Given the description of an element on the screen output the (x, y) to click on. 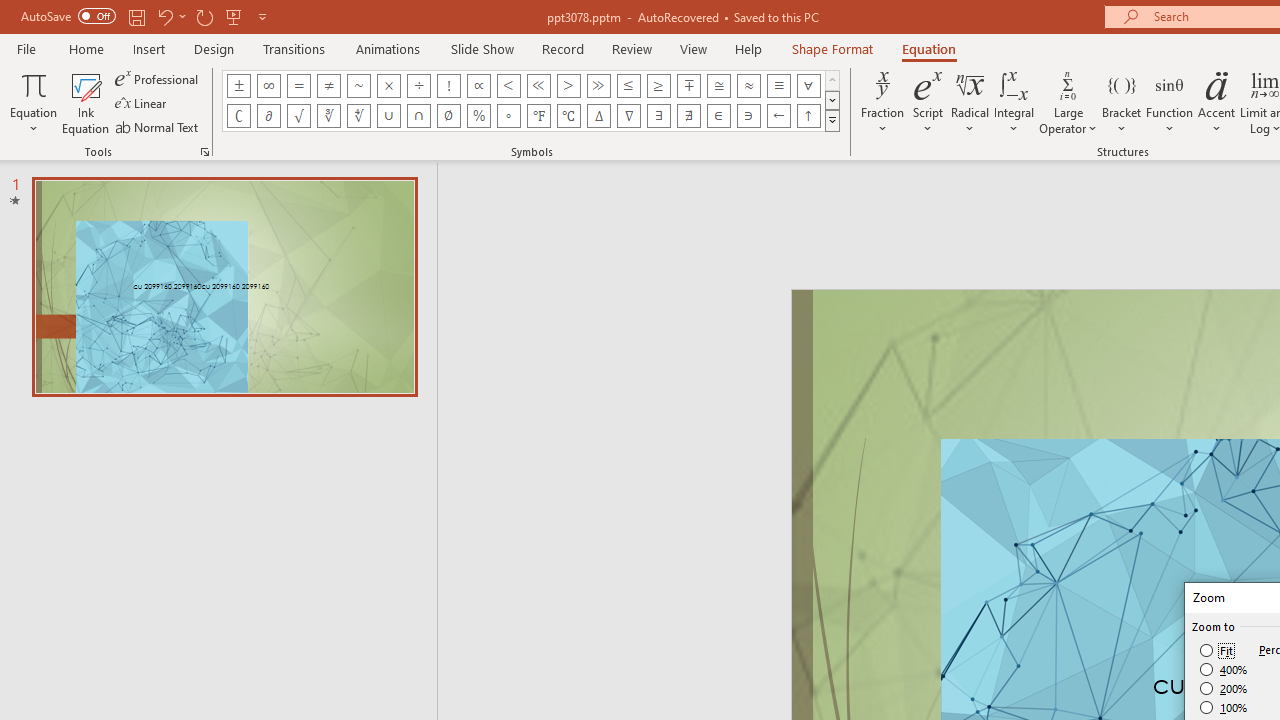
Equation Symbol Partial Differential (268, 115)
Equation Options... (204, 151)
Equation Symbol Complement (238, 115)
Equation Symbol Increment (598, 115)
Normal Text (158, 126)
Equation Symbol Element Of (718, 115)
Script (927, 102)
Equation Symbol Less Than or Equal To (628, 85)
Equation Symbol Nabla (628, 115)
